Given the description of an element on the screen output the (x, y) to click on. 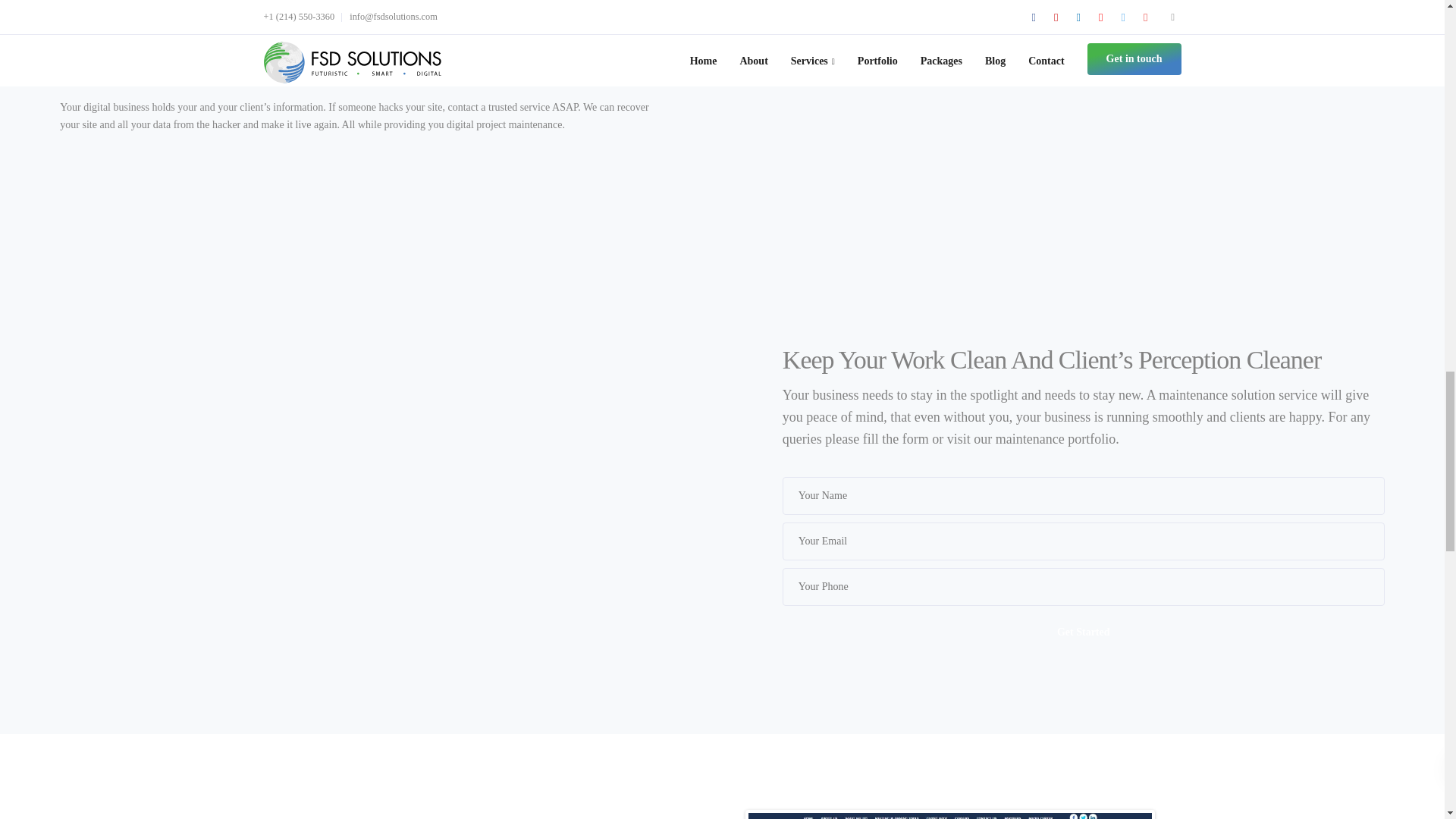
Get Started (1083, 632)
Get Started (1083, 632)
